Given the description of an element on the screen output the (x, y) to click on. 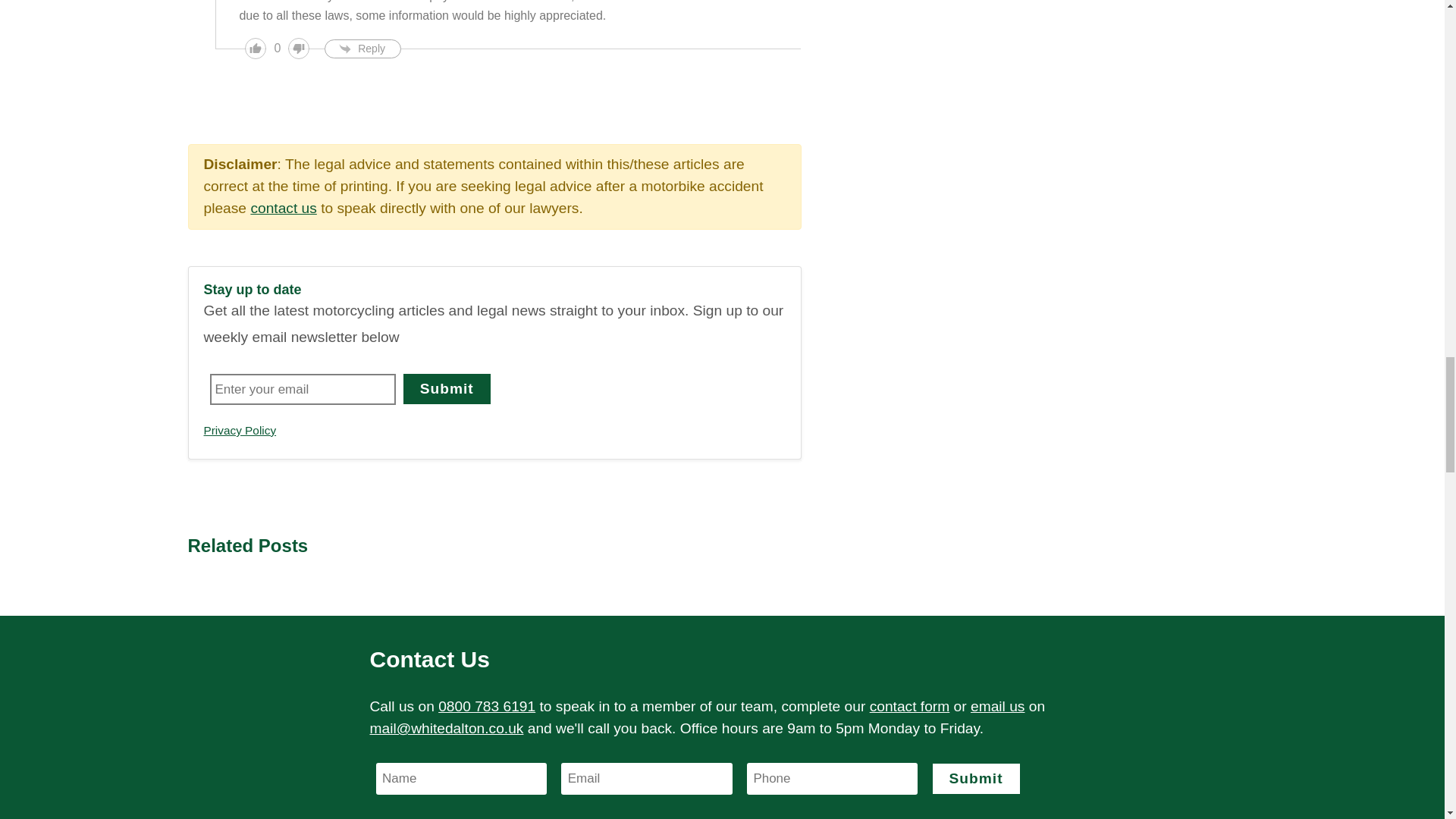
Submit (446, 388)
Privacy Policy (239, 430)
Submit (976, 778)
Submit (446, 388)
contact us (282, 207)
